Given the description of an element on the screen output the (x, y) to click on. 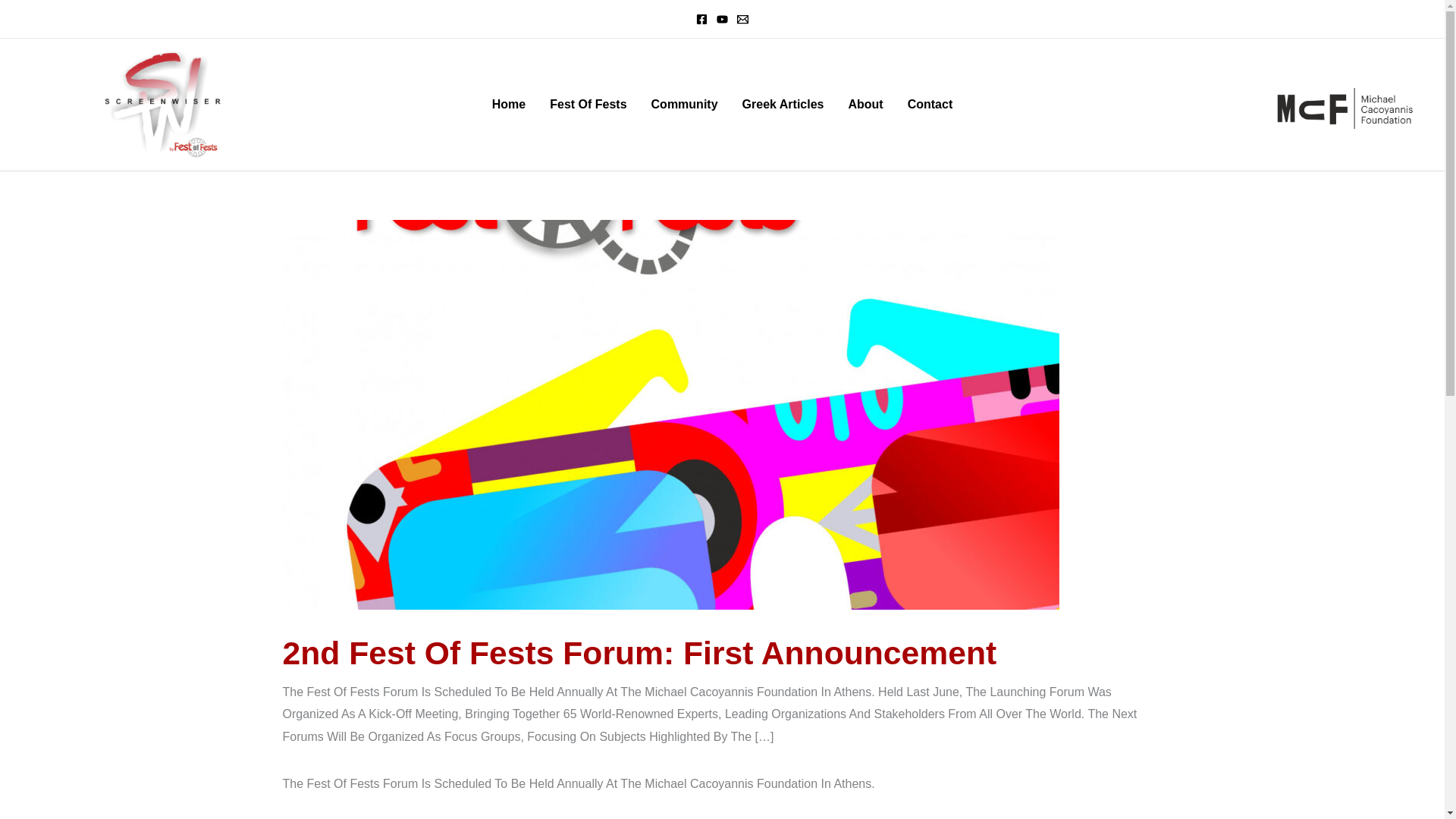
Greek Articles (782, 103)
Fest Of Fests (588, 103)
Community (684, 103)
